Given the description of an element on the screen output the (x, y) to click on. 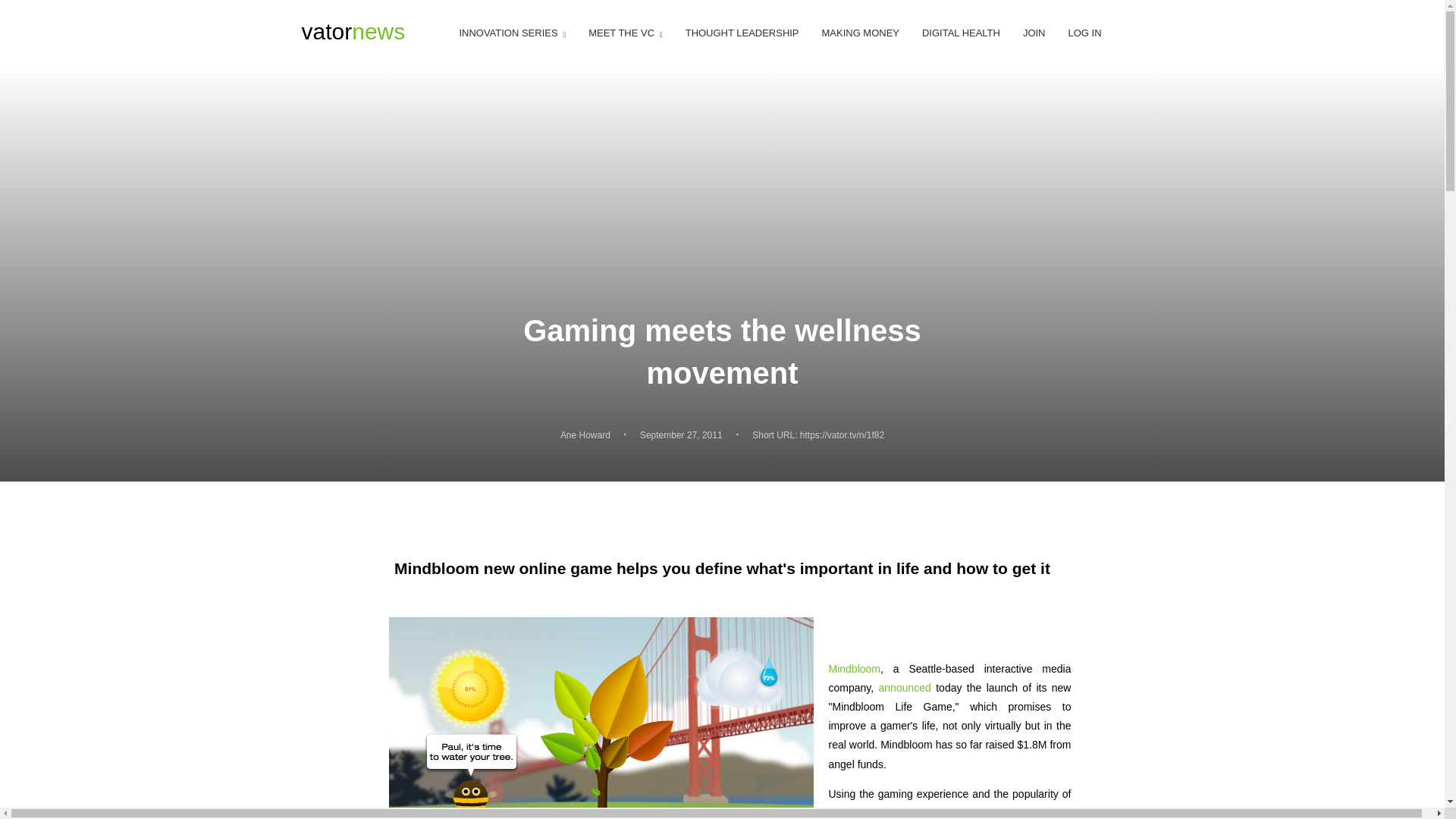
DIGITAL HEALTH (353, 32)
Ane Howard (960, 33)
Mindbloom (585, 434)
announced (853, 668)
LOG IN (905, 687)
MAKING MONEY (1083, 33)
MEET THE VC (860, 33)
THOUGHT LEADERSHIP (625, 33)
INNOVATION SERIES (742, 33)
